Given the description of an element on the screen output the (x, y) to click on. 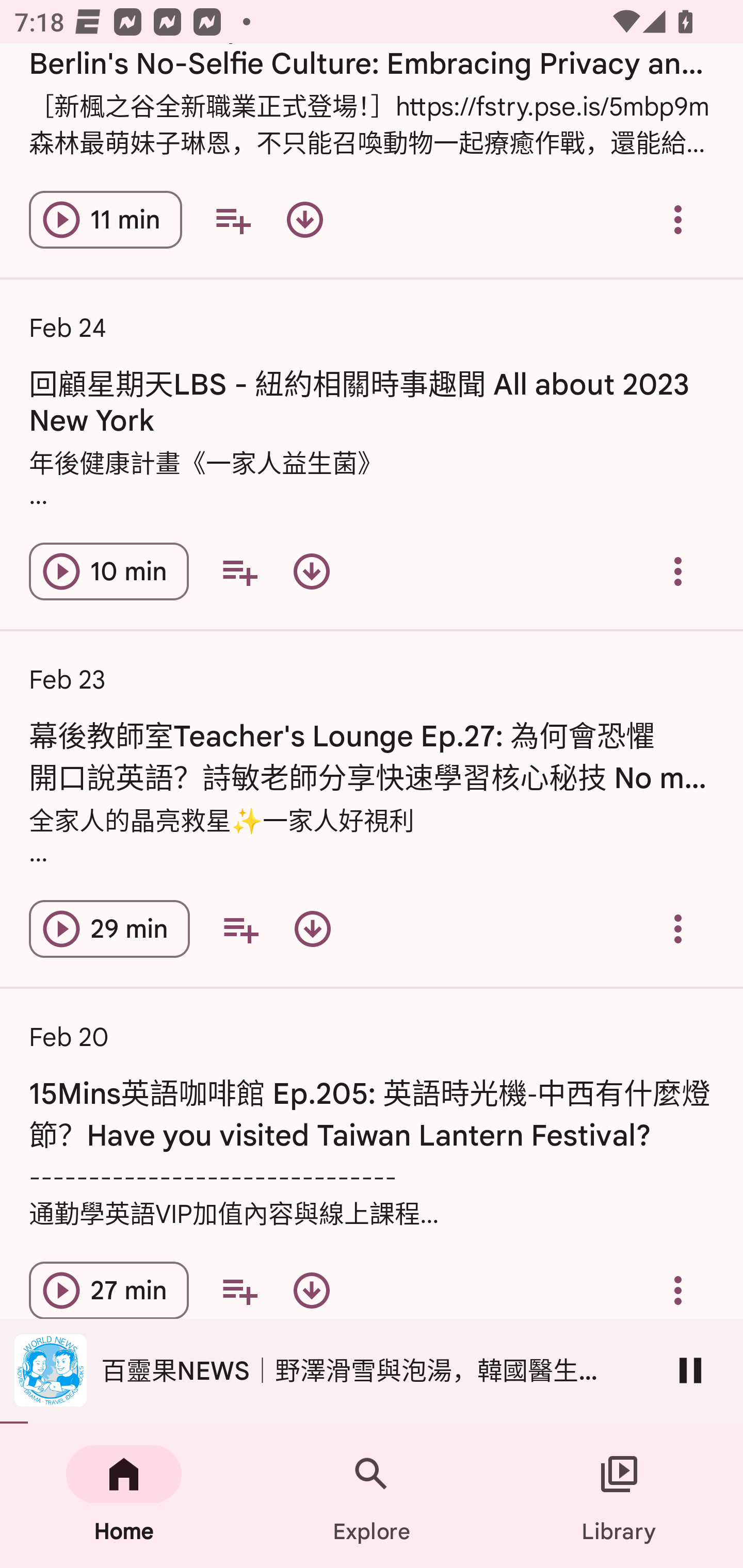
Add to your queue (232, 219)
Download episode (304, 219)
Overflow menu (677, 219)
Add to your queue (239, 571)
Download episode (311, 571)
Overflow menu (677, 571)
Add to your queue (240, 928)
Download episode (312, 928)
Overflow menu (677, 928)
Add to your queue (239, 1290)
Download episode (311, 1290)
Overflow menu (677, 1290)
Pause (690, 1370)
Explore (371, 1495)
Library (619, 1495)
